Given the description of an element on the screen output the (x, y) to click on. 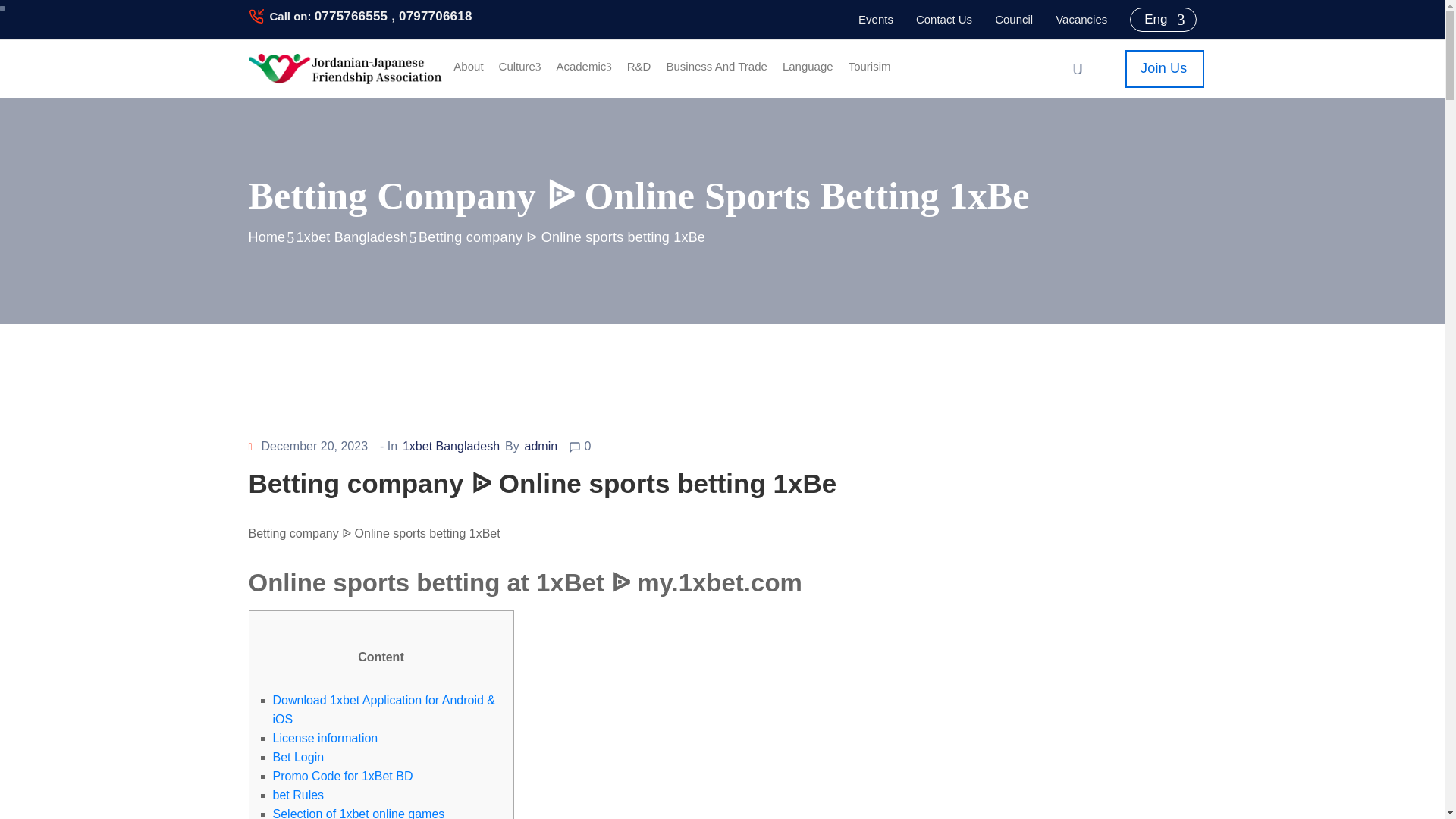
Council (1013, 19)
Academic (583, 64)
Selection of 1xbet online games (359, 813)
Call on: 0775766555 , 0797706618 (370, 15)
Vacancies (1080, 19)
1xbet Bangladesh (352, 237)
Events (876, 19)
License information (325, 738)
About (467, 64)
Culture (520, 64)
